Given the description of an element on the screen output the (x, y) to click on. 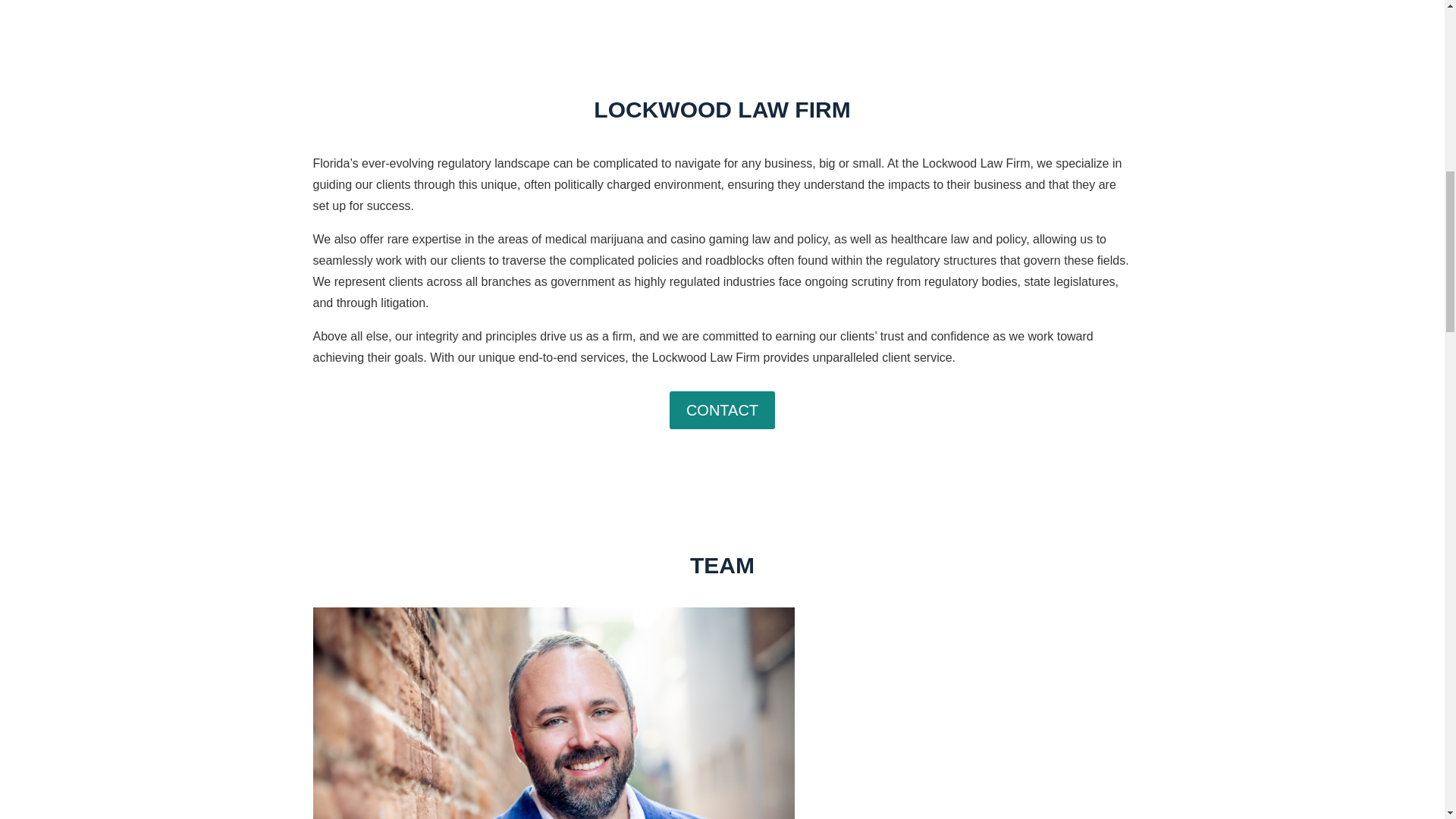
CONTACT (721, 410)
Lockwood Law (553, 713)
